Given the description of an element on the screen output the (x, y) to click on. 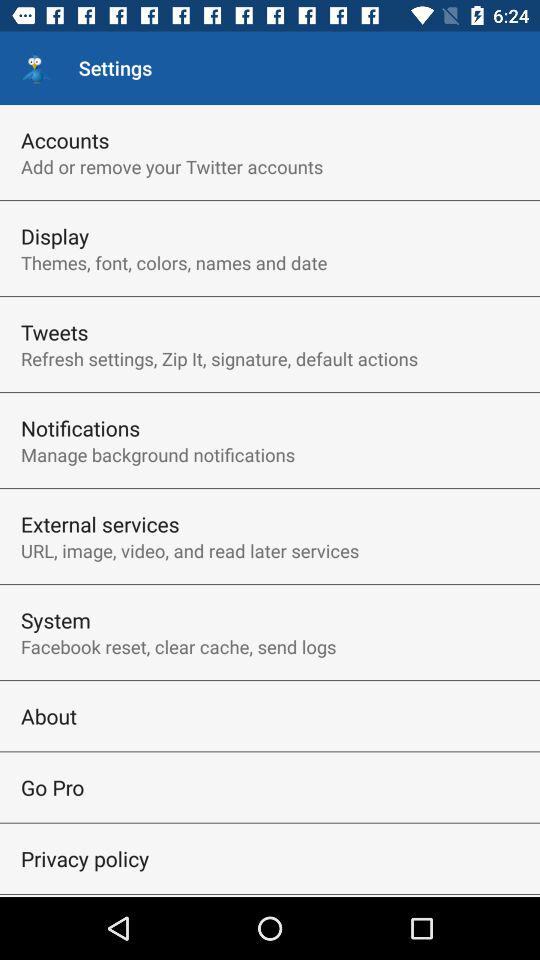
select the external services icon (100, 524)
